Given the description of an element on the screen output the (x, y) to click on. 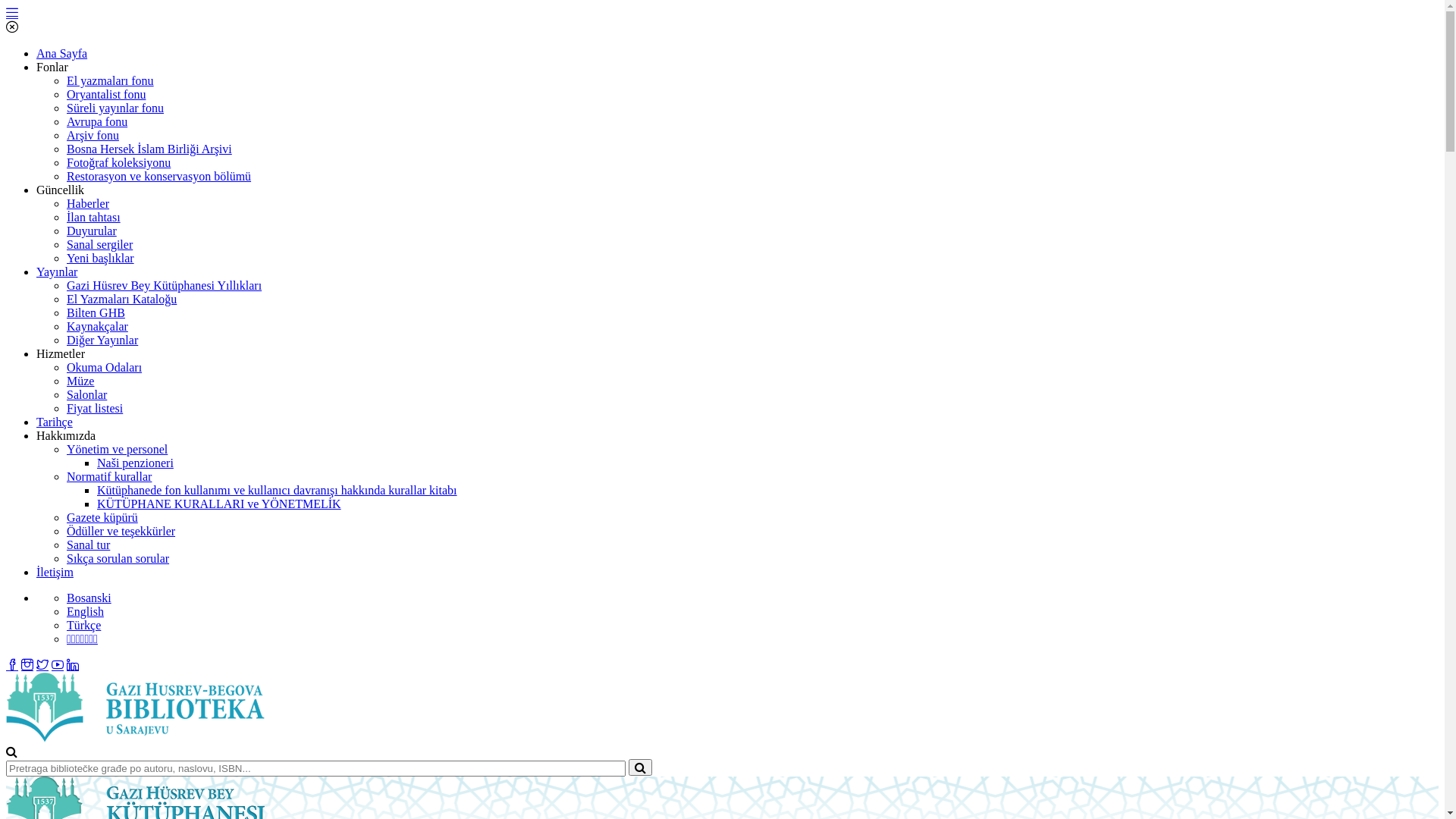
Fiyat listesi Element type: text (94, 407)
Duyurular Element type: text (91, 230)
Ana Sayfa Element type: text (61, 53)
Bosanski Element type: text (88, 597)
Hizmetler Element type: text (60, 353)
Fonlar Element type: text (52, 66)
English Element type: text (84, 611)
Avrupa fonu Element type: text (96, 121)
Bilten GHB Element type: text (95, 312)
Normatif kurallar Element type: text (108, 476)
Oryantalist fonu Element type: text (105, 93)
Sanal sergiler Element type: text (99, 244)
Salonlar Element type: text (86, 394)
Sanal tur Element type: text (87, 544)
Haberler Element type: text (87, 203)
